Given the description of an element on the screen output the (x, y) to click on. 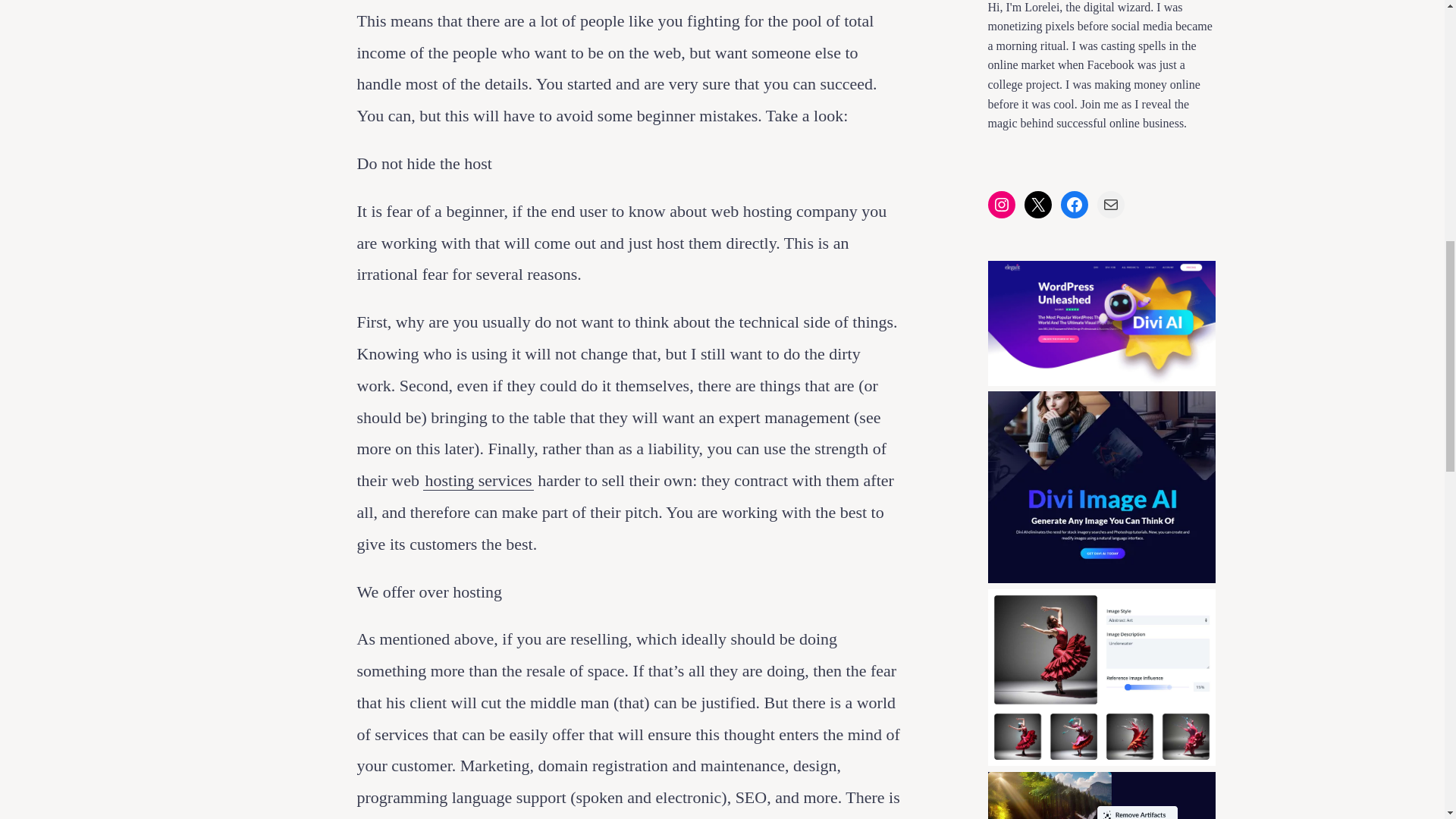
X (1037, 204)
Instagram (1000, 204)
What To Consider When Picking A Paid Hosting Service? (477, 480)
hosting services (477, 480)
Facebook (1073, 204)
Mail (1110, 204)
